Given the description of an element on the screen output the (x, y) to click on. 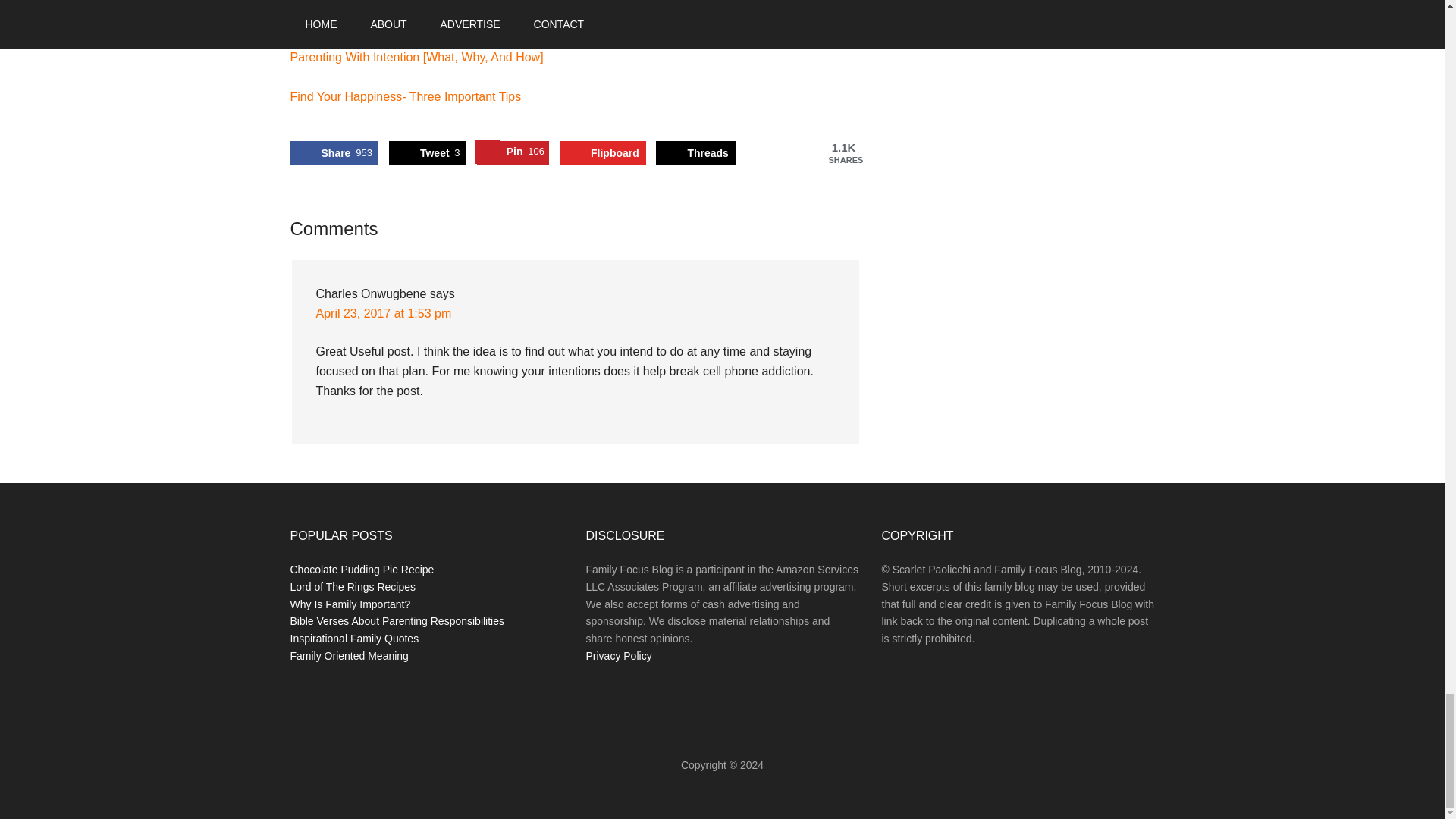
Flipboard (333, 152)
Find Your Happiness- Three Important Tips (602, 152)
Share on Facebook (405, 96)
Share on Flipboard (333, 152)
Share on Threads (513, 152)
Celebrate National Day of Unplugging With Your Family (602, 152)
Save to Pinterest (695, 152)
